Given the description of an element on the screen output the (x, y) to click on. 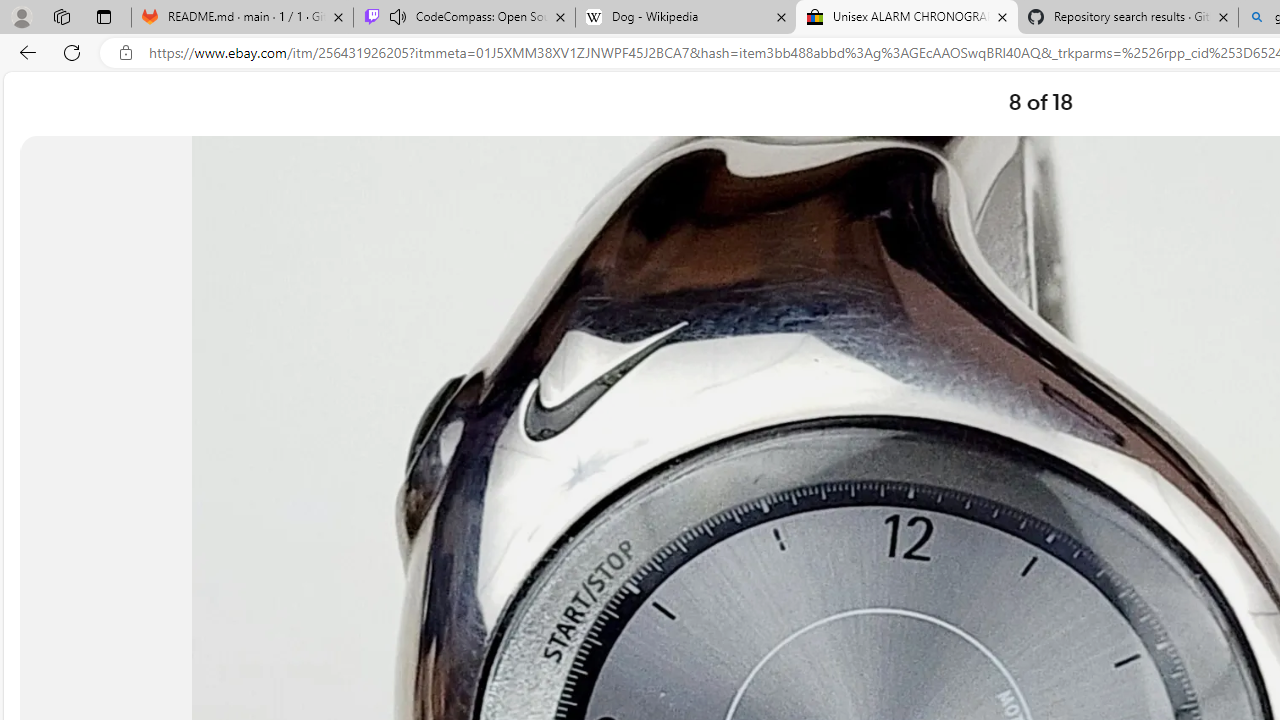
Mute tab (397, 16)
Dog - Wikipedia (686, 17)
